Given the description of an element on the screen output the (x, y) to click on. 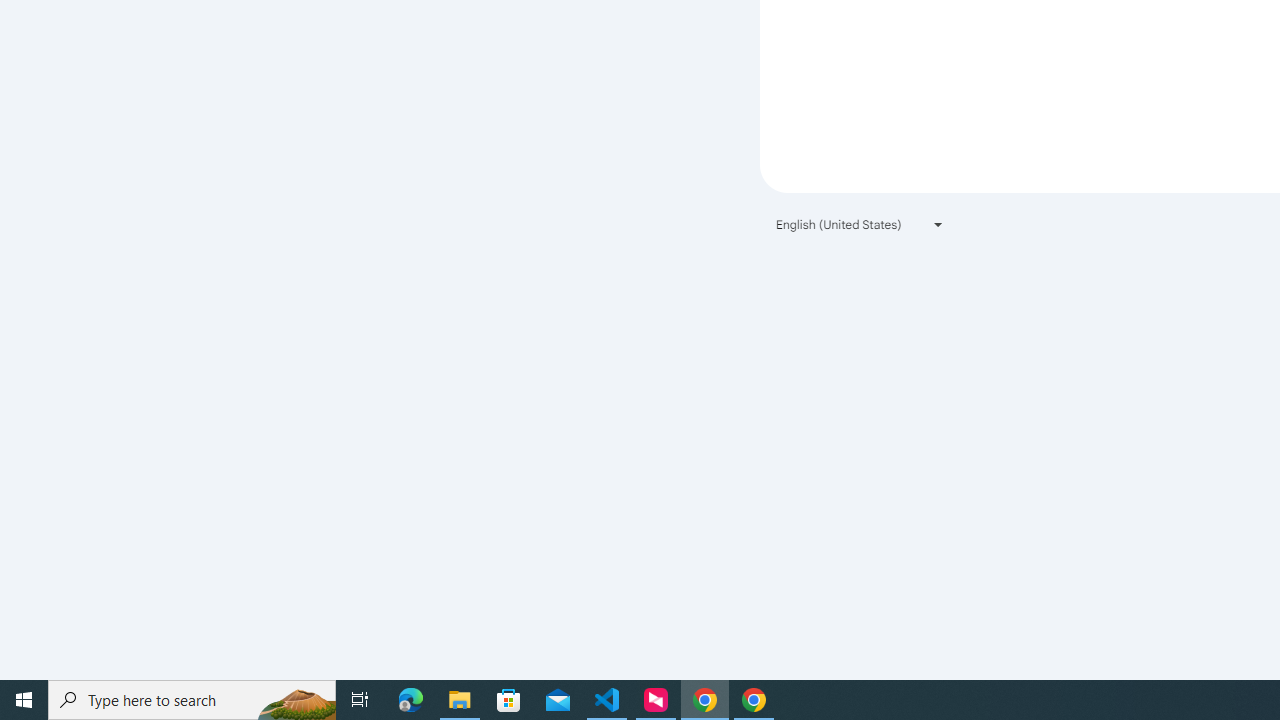
English (United States) (860, 224)
